Given the description of an element on the screen output the (x, y) to click on. 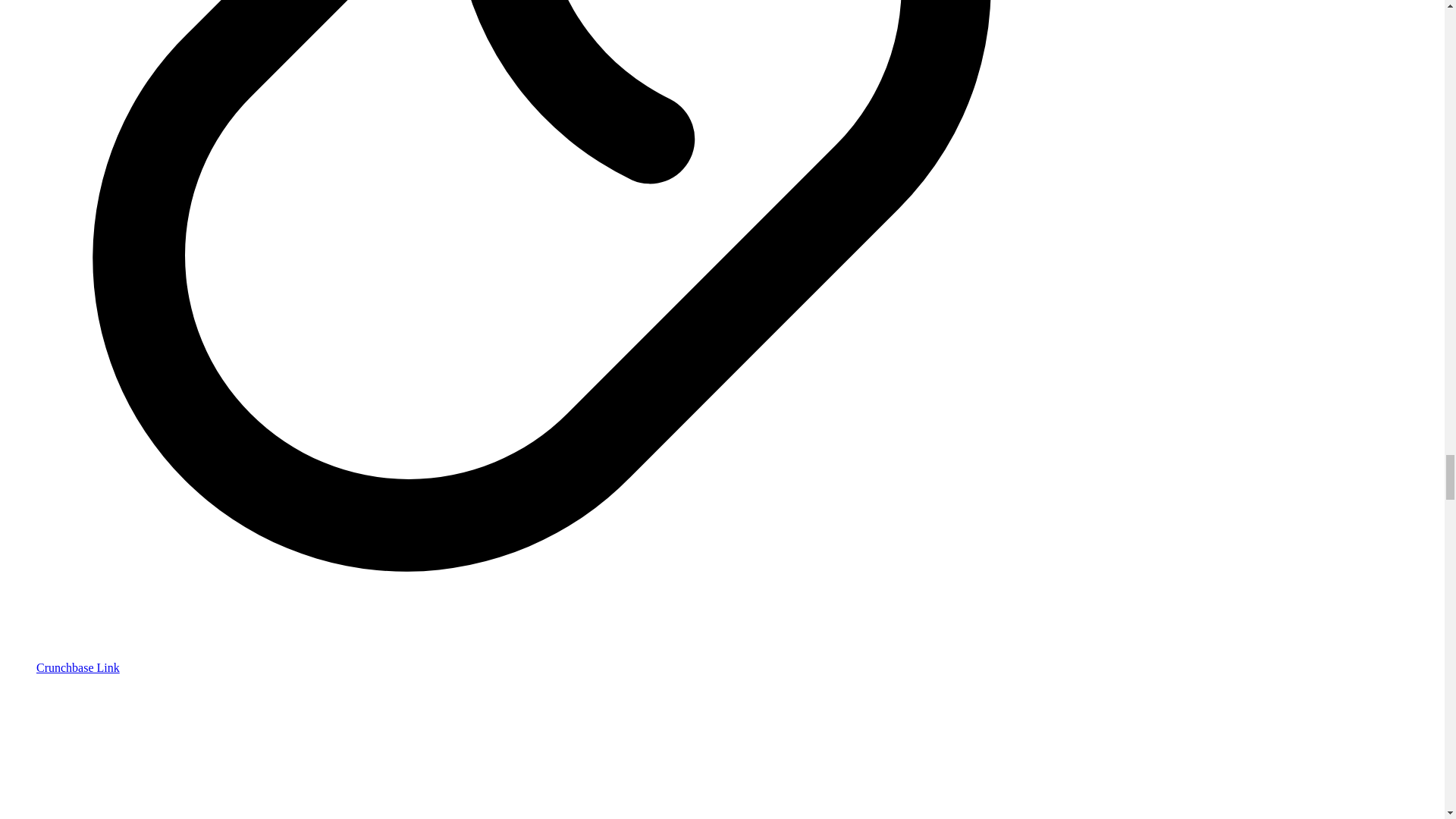
Crunchbase Link (77, 667)
